Given the description of an element on the screen output the (x, y) to click on. 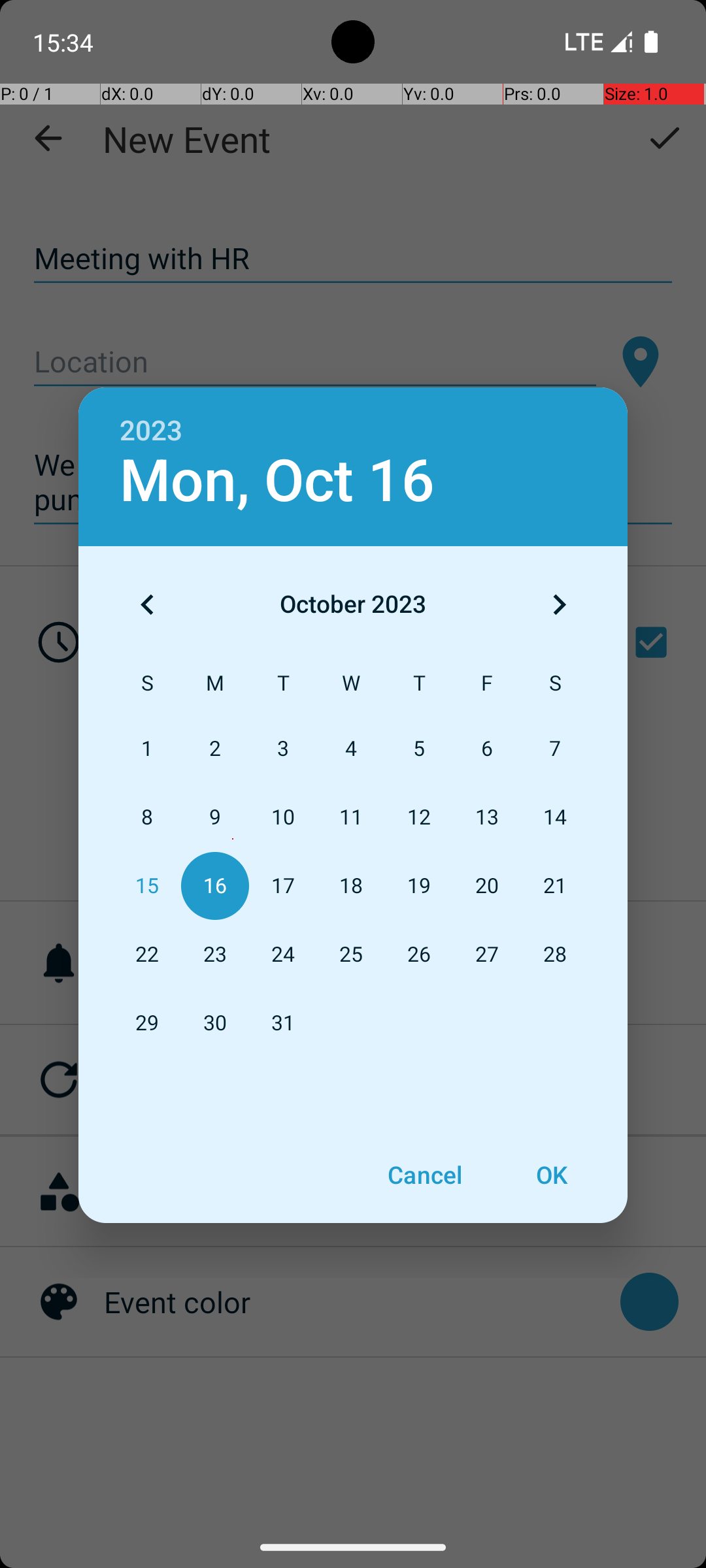
Mon, Oct 16 Element type: android.widget.TextView (276, 480)
